Given the description of an element on the screen output the (x, y) to click on. 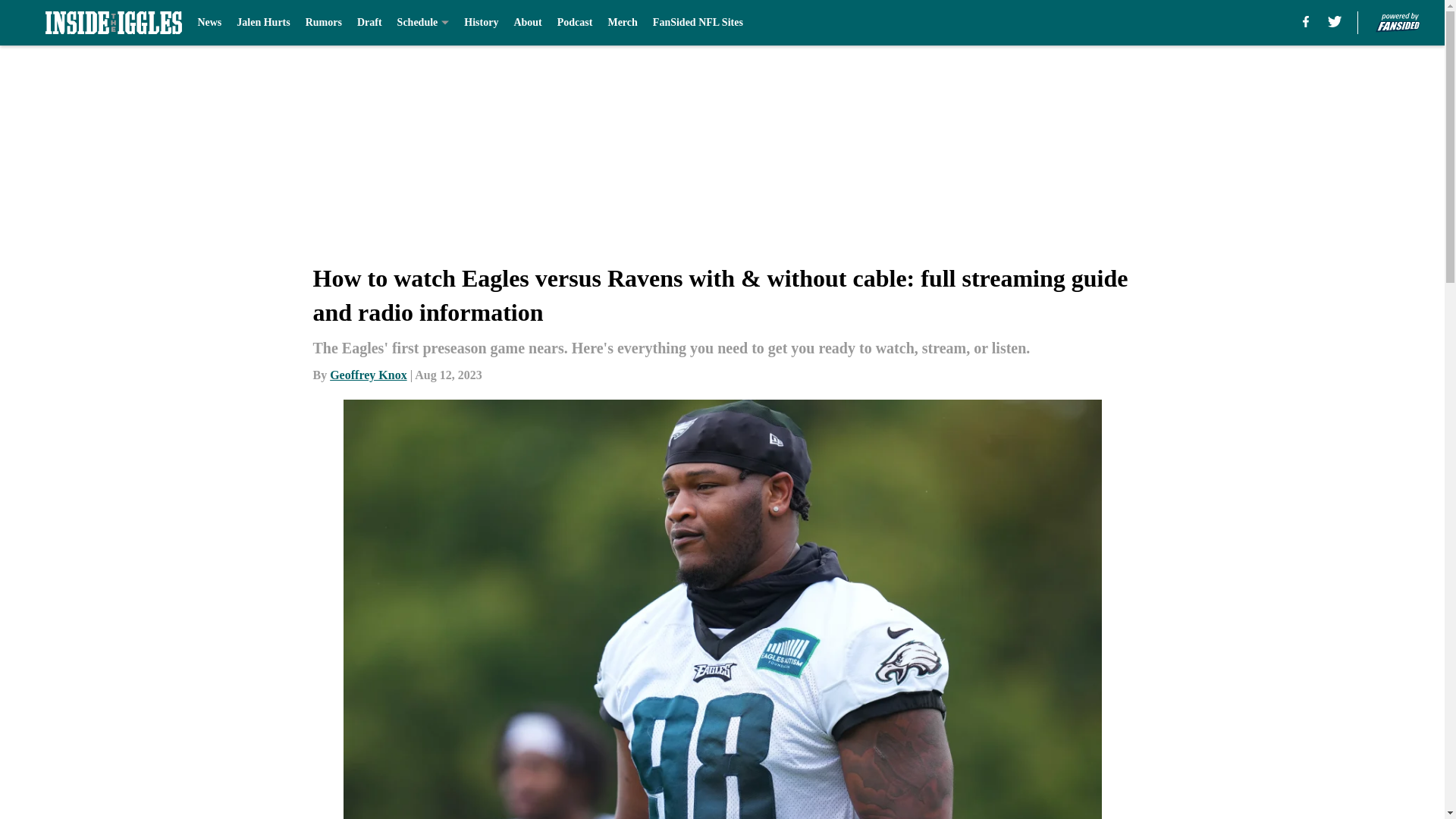
Geoffrey Knox (368, 374)
About (527, 22)
FanSided NFL Sites (697, 22)
History (480, 22)
Podcast (574, 22)
Jalen Hurts (262, 22)
Draft (368, 22)
Rumors (323, 22)
News (208, 22)
Merch (622, 22)
